Given the description of an element on the screen output the (x, y) to click on. 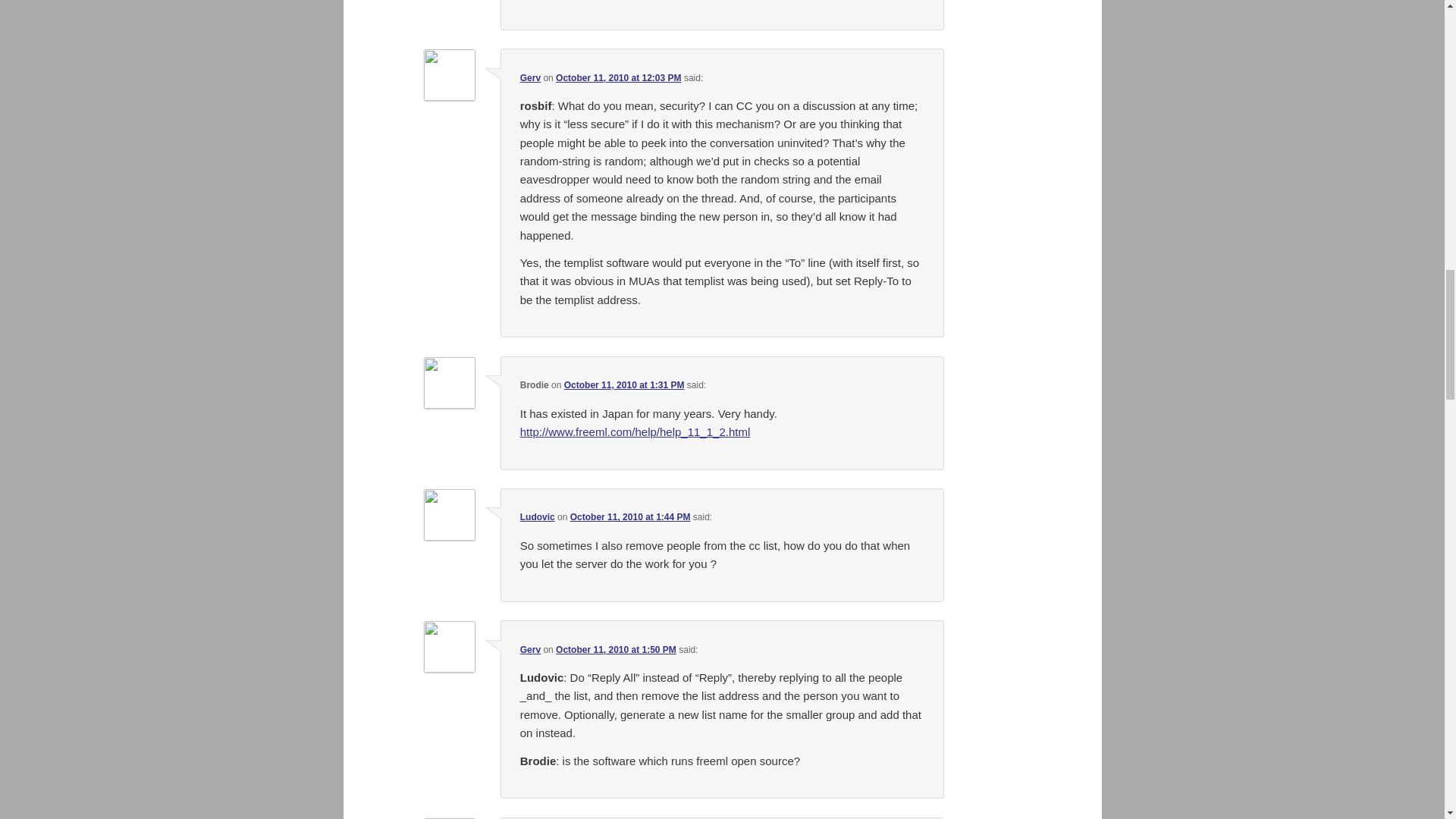
October 11, 2010 at 1:50 PM (616, 649)
Gerv (529, 649)
Ludovic (536, 516)
October 11, 2010 at 12:03 PM (618, 77)
October 11, 2010 at 1:44 PM (630, 516)
October 11, 2010 at 1:31 PM (624, 385)
Gerv (529, 77)
